Given the description of an element on the screen output the (x, y) to click on. 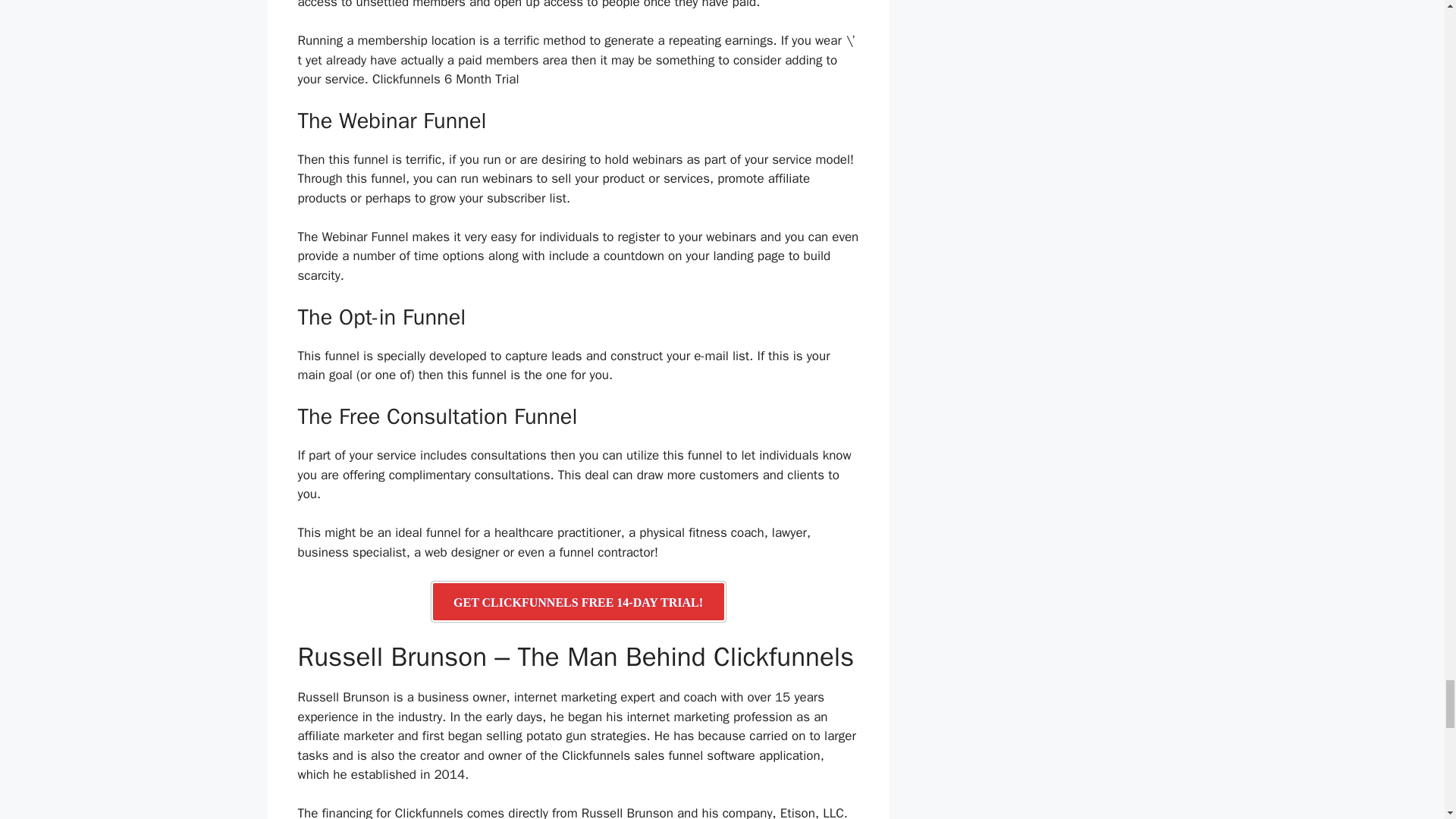
GET CLICKFUNNELS FREE 14-DAY TRIAL! (577, 601)
